Given the description of an element on the screen output the (x, y) to click on. 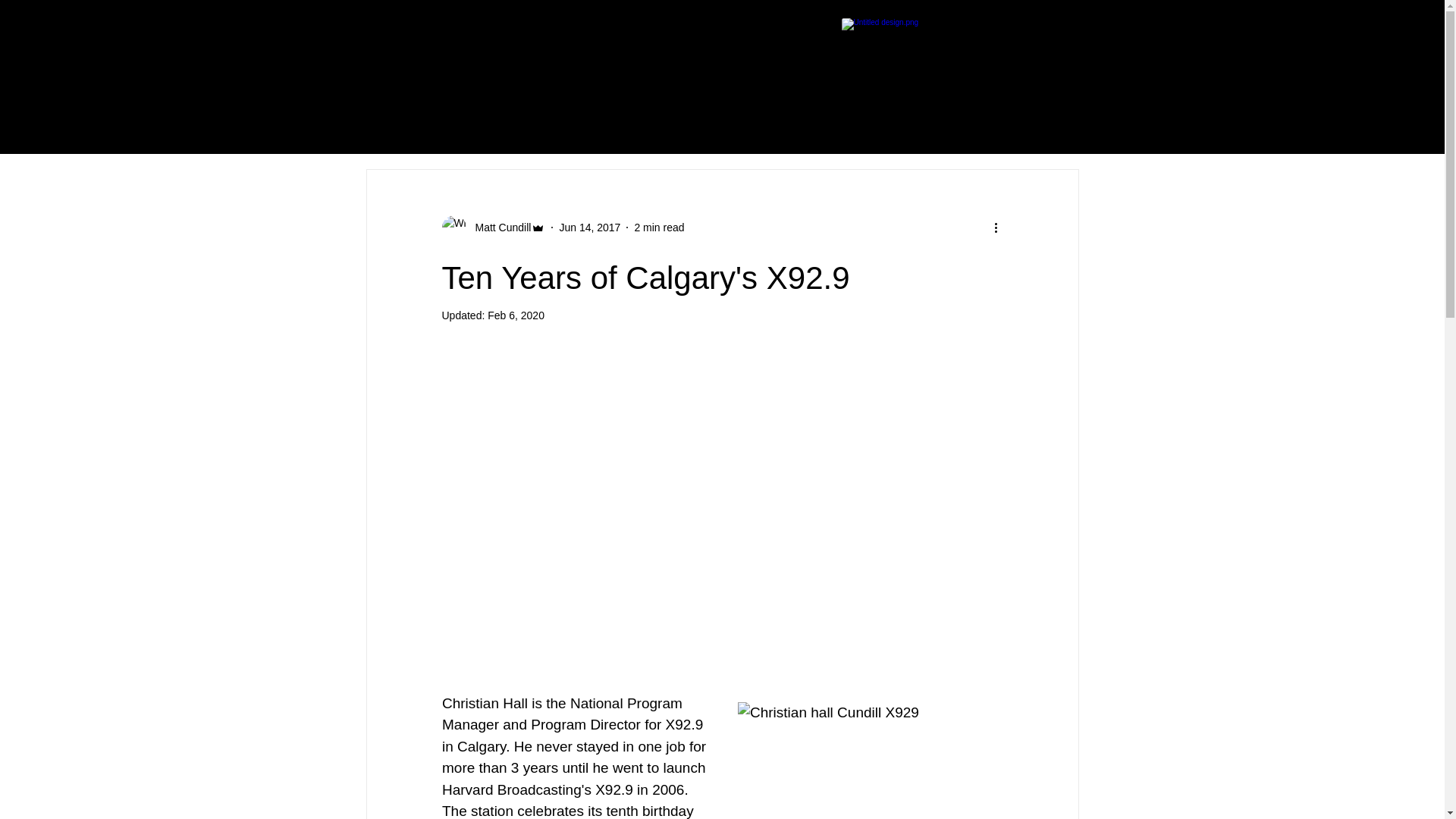
Feb 6, 2020 (515, 315)
Jun 14, 2017 (589, 227)
Matt Cundill (498, 227)
2 min read (658, 227)
